Given the description of an element on the screen output the (x, y) to click on. 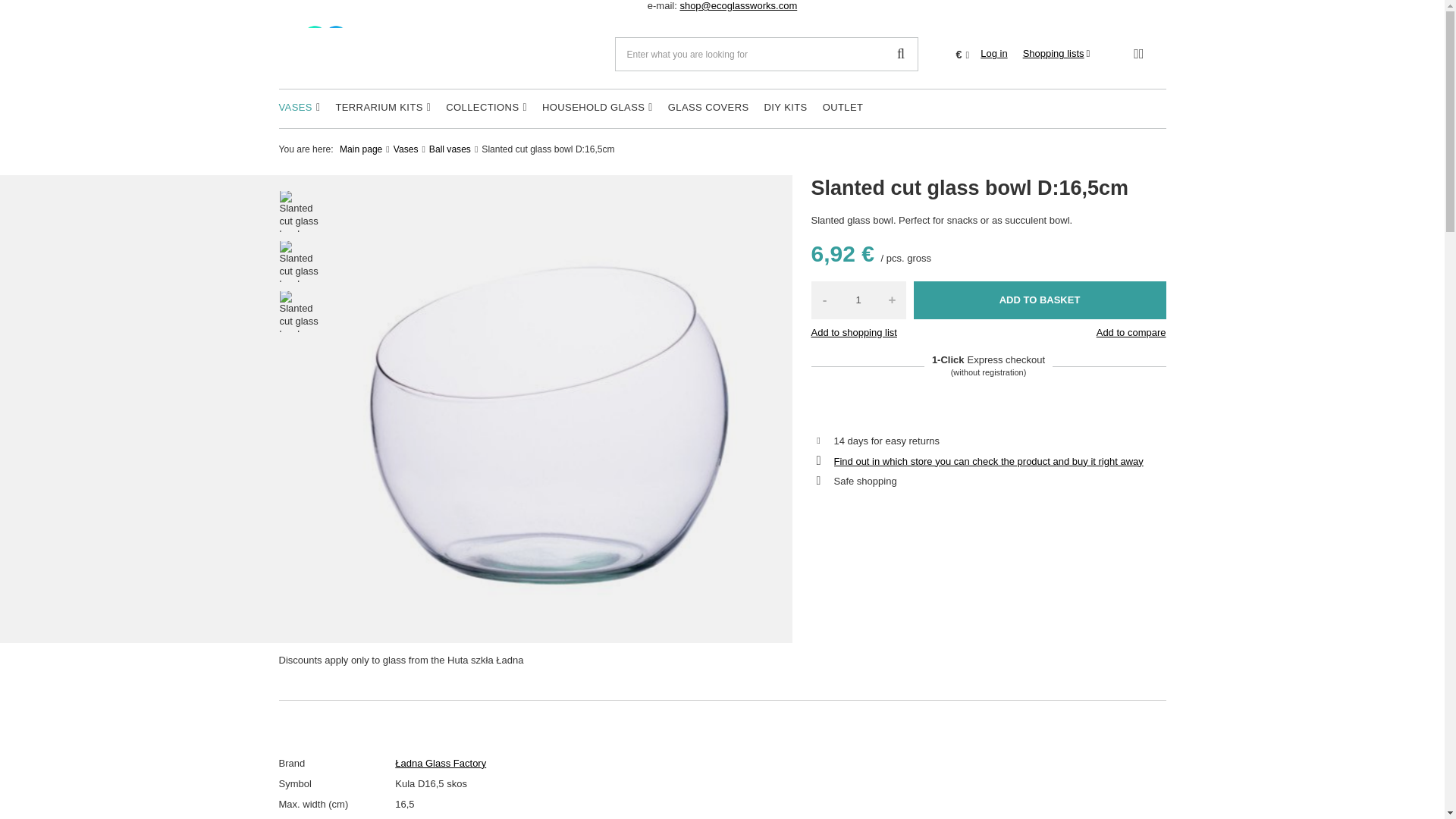
VASES (299, 108)
Collections (486, 108)
Vases (299, 108)
1 (858, 300)
Outlet (842, 108)
Shopping lists (1056, 52)
COLLECTIONS (486, 108)
Log in (993, 53)
DIY Kits (786, 108)
TERRARIUM KITS (382, 108)
